Given the description of an element on the screen output the (x, y) to click on. 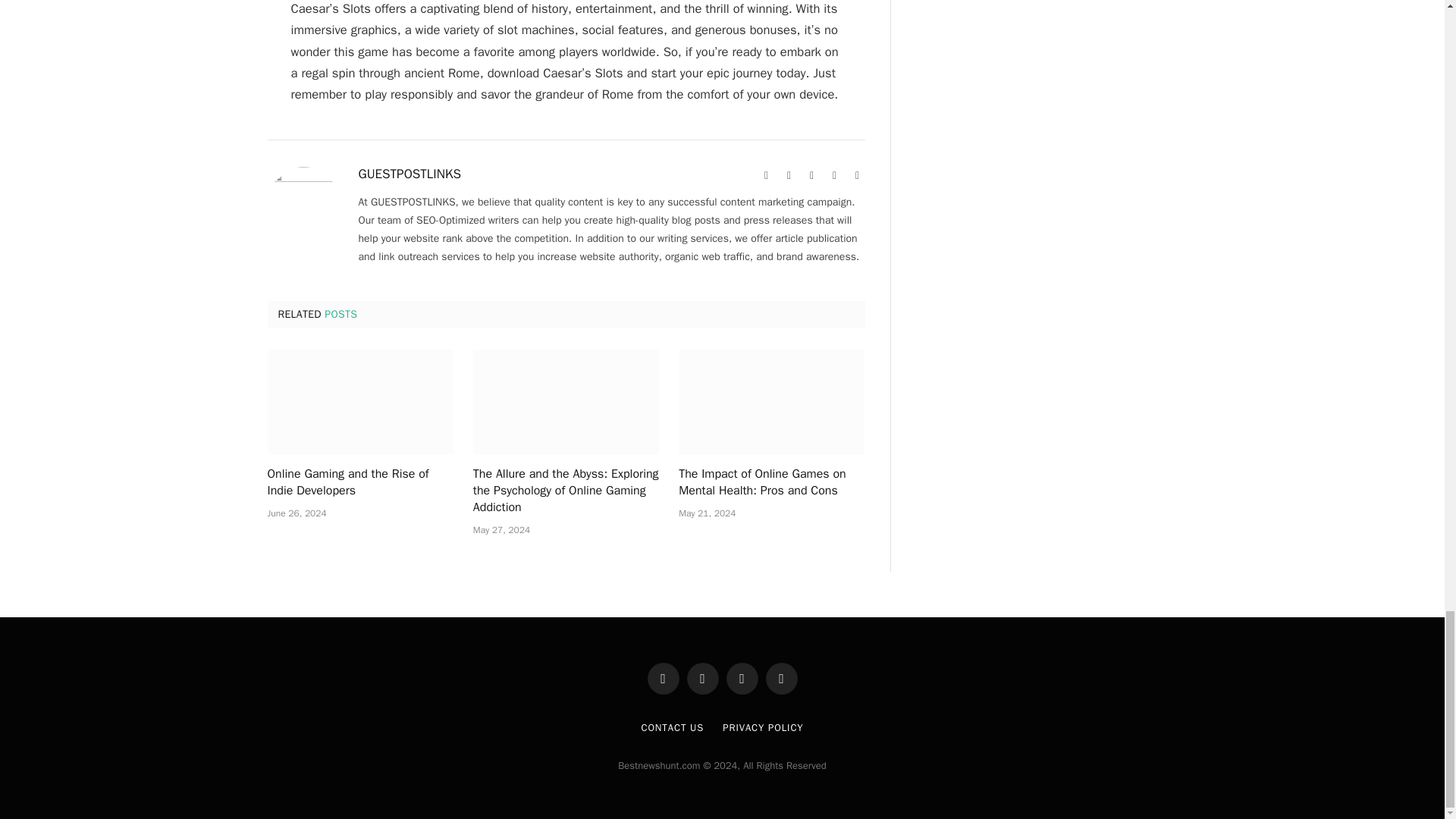
LinkedIn (856, 175)
LinkedIn (856, 175)
Online Gaming and the Rise of Indie Developers (359, 482)
Pinterest (834, 175)
GUESTPOSTLINKS (409, 174)
Facebook (788, 175)
Website (765, 175)
Posts by GUESTPOSTLINKS (409, 174)
Facebook (788, 175)
